Given the description of an element on the screen output the (x, y) to click on. 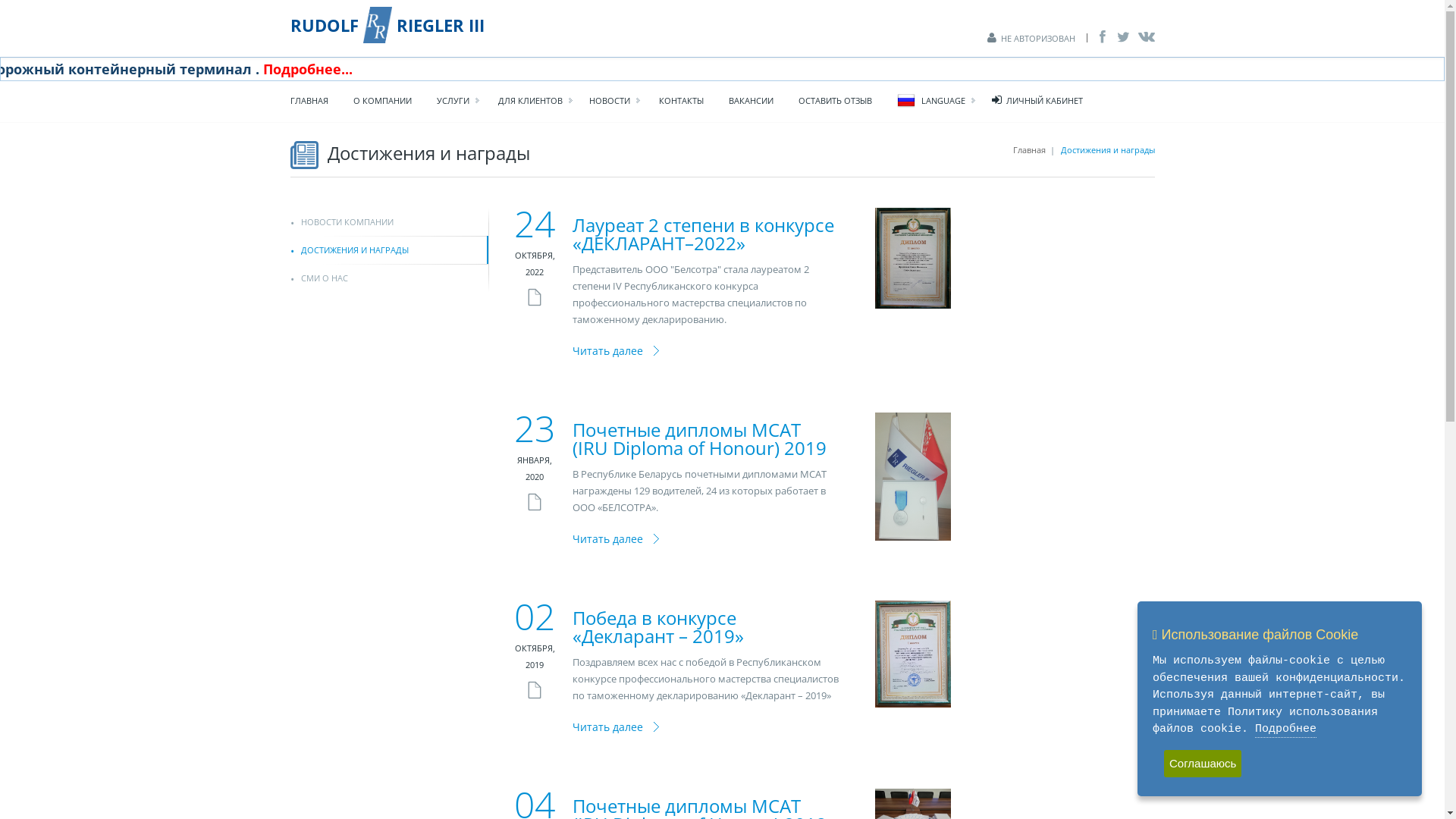
RUDOLF RIEGLER III Element type: text (386, 24)
LANGUAGE Element type: text (936, 100)
